Given the description of an element on the screen output the (x, y) to click on. 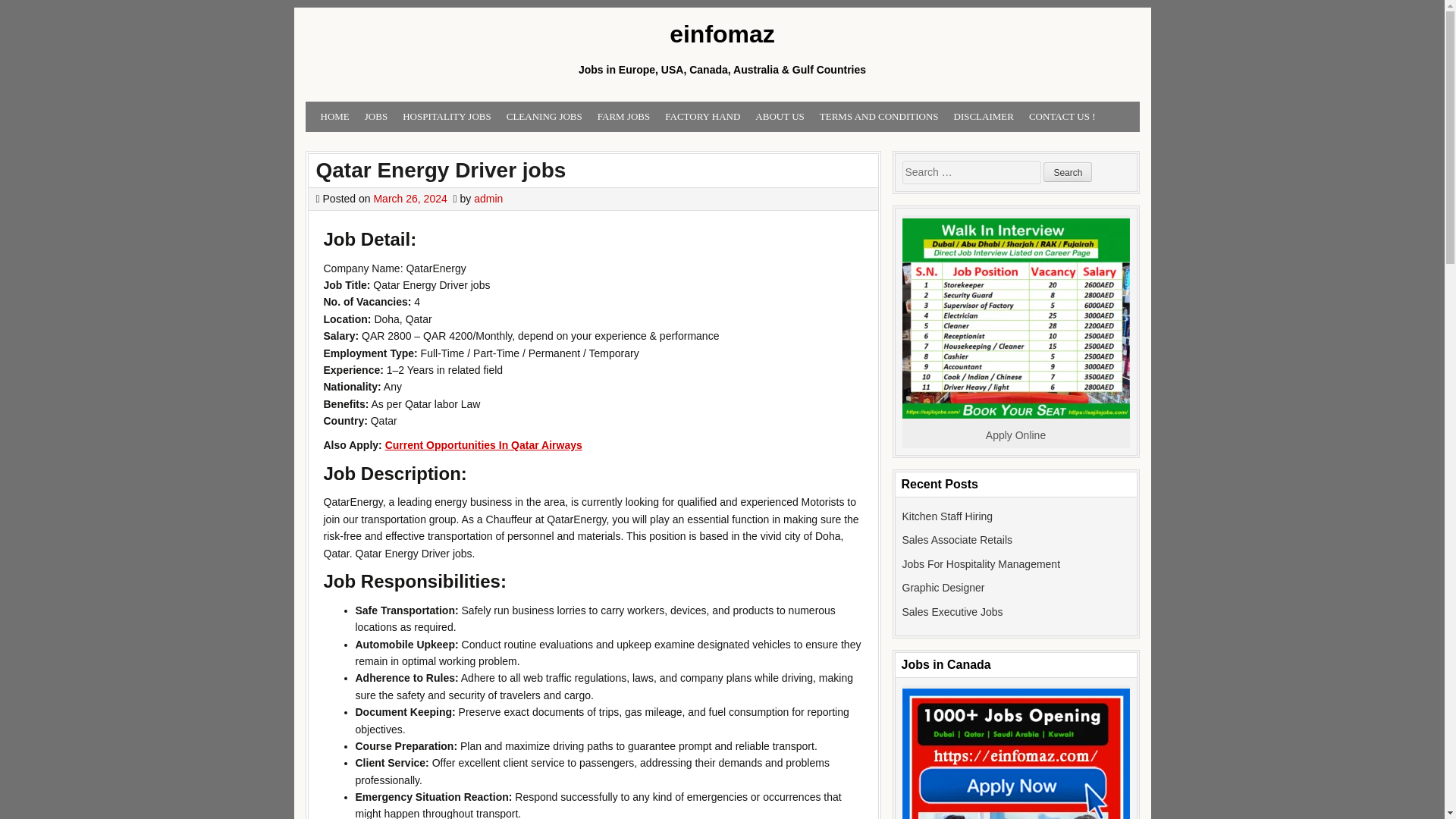
FACTORY HAND (703, 116)
Qatar Energy Driver jobs (440, 169)
Sales Executive Jobs (952, 612)
Jobs in Canada (1015, 753)
CLEANING JOBS (544, 116)
Search (1067, 171)
HOME (334, 116)
HOSPITALITY JOBS (446, 116)
einfomaz (721, 34)
ABOUT US (779, 116)
